Given the description of an element on the screen output the (x, y) to click on. 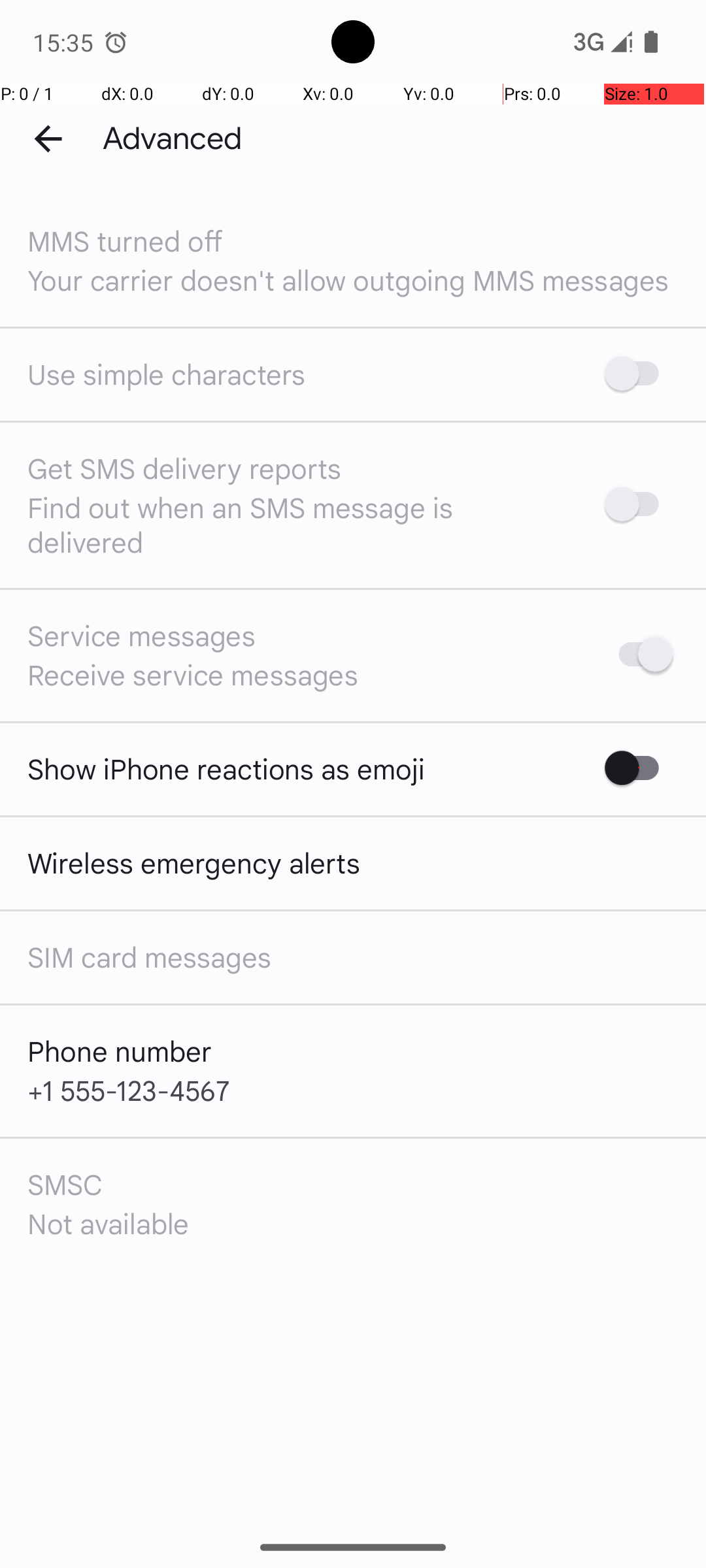
MMS turned off Element type: android.widget.TextView (124, 240)
Your carrier doesn't allow outgoing MMS messages Element type: android.widget.TextView (348, 279)
Use simple characters Element type: android.widget.TextView (166, 373)
Get SMS delivery reports Element type: android.widget.TextView (184, 467)
Find out when an SMS message is delivered Element type: android.widget.TextView (299, 523)
Service messages Element type: android.widget.TextView (141, 634)
Receive service messages Element type: android.widget.TextView (192, 673)
Show iPhone reactions as emoji Element type: android.widget.TextView (225, 767)
Wireless emergency alerts Element type: android.widget.TextView (193, 862)
SIM card messages Element type: android.widget.TextView (149, 956)
Phone number Element type: android.widget.TextView (119, 1050)
+1 555-123-4567 Element type: android.widget.TextView (128, 1089)
SMSC Element type: android.widget.TextView (64, 1183)
Not available Element type: android.widget.TextView (108, 1222)
